Given the description of an element on the screen output the (x, y) to click on. 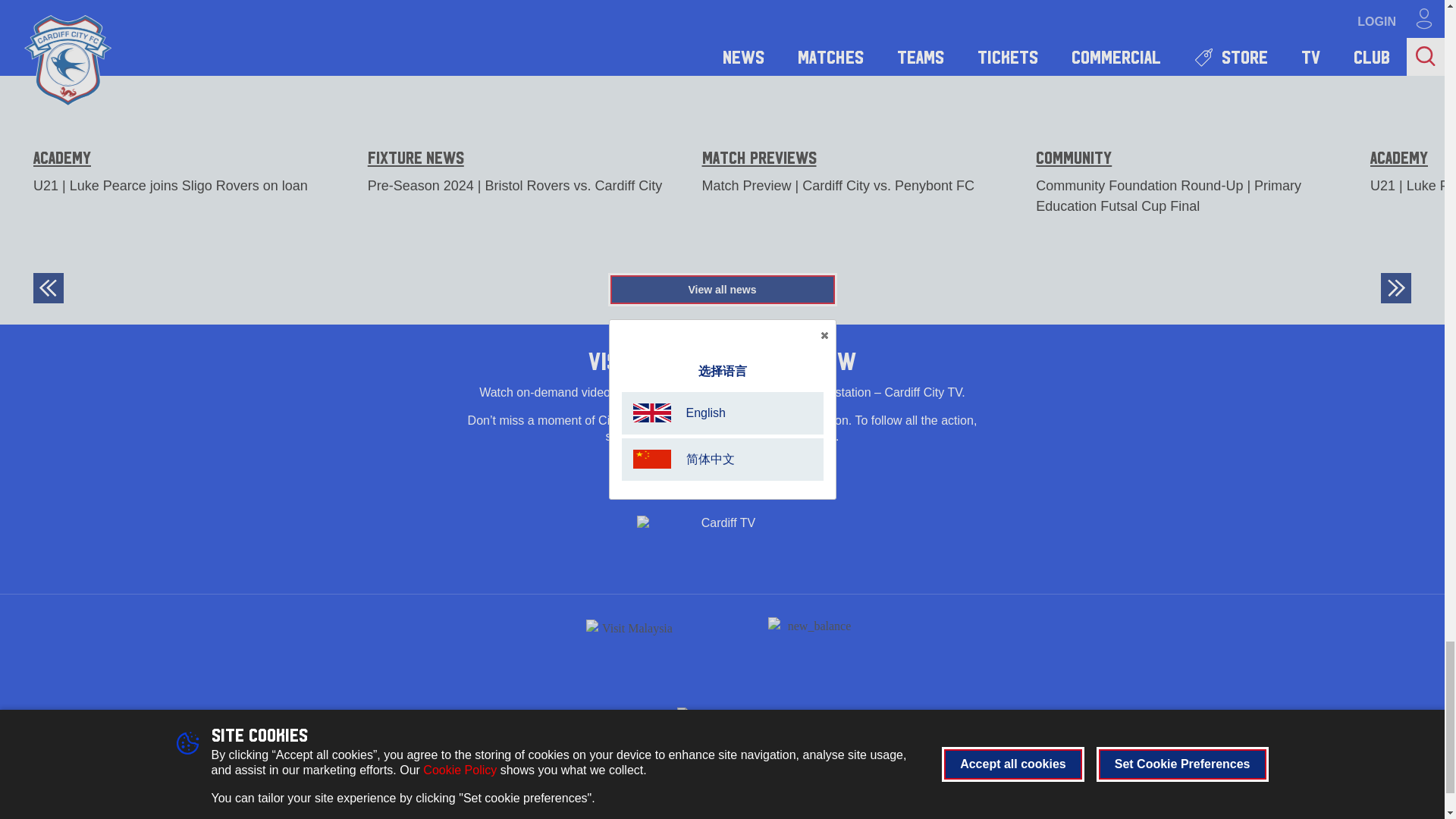
Nathaniel Cars (722, 713)
New Balance (813, 645)
Visit Malaysia (631, 645)
